Given the description of an element on the screen output the (x, y) to click on. 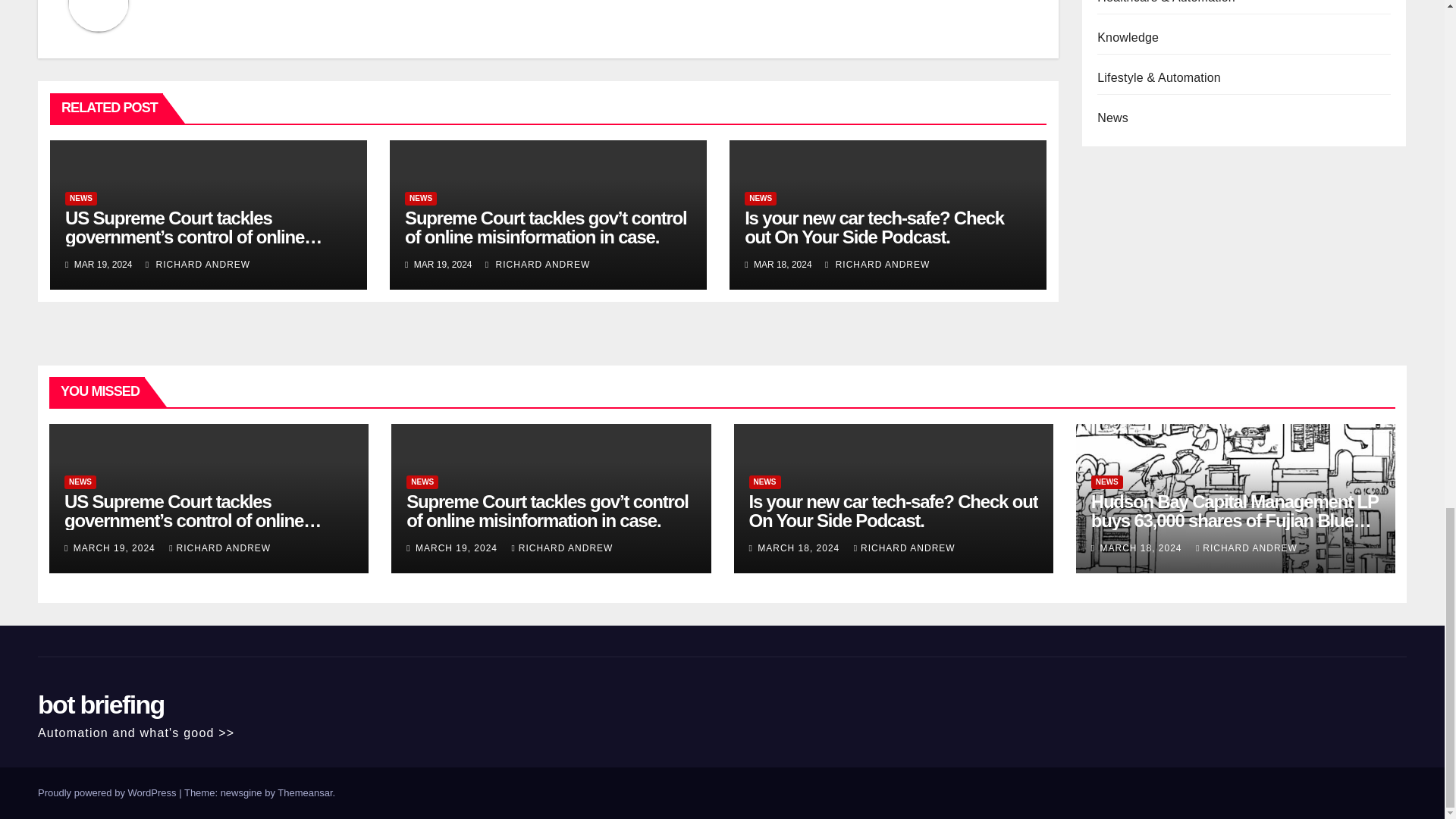
Is your new car tech-safe? Check out On Your Side Podcast. (874, 227)
RICHARD ANDREW (877, 264)
NEWS (420, 198)
RICHARD ANDREW (197, 264)
NEWS (81, 198)
NEWS (760, 198)
RICHARD ANDREW (536, 264)
